Given the description of an element on the screen output the (x, y) to click on. 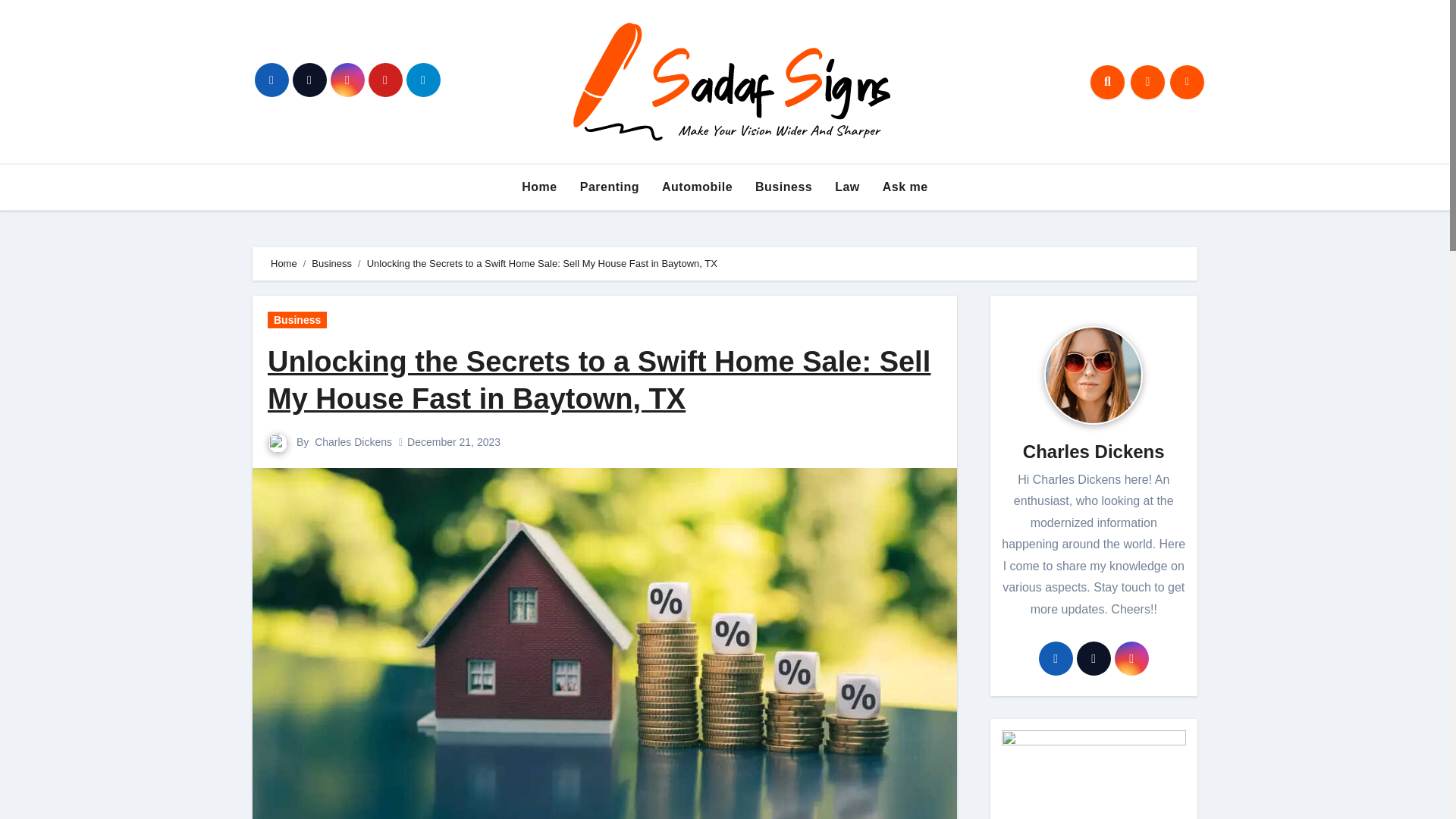
Parenting (609, 186)
Home (539, 186)
Business (784, 186)
Business (296, 320)
Automobile (697, 186)
Ask me (904, 186)
Charles Dickens (352, 441)
Home (283, 263)
Ask me (904, 186)
Business (331, 263)
Automobile (697, 186)
Parenting (609, 186)
Law (847, 186)
Business (784, 186)
